Given the description of an element on the screen output the (x, y) to click on. 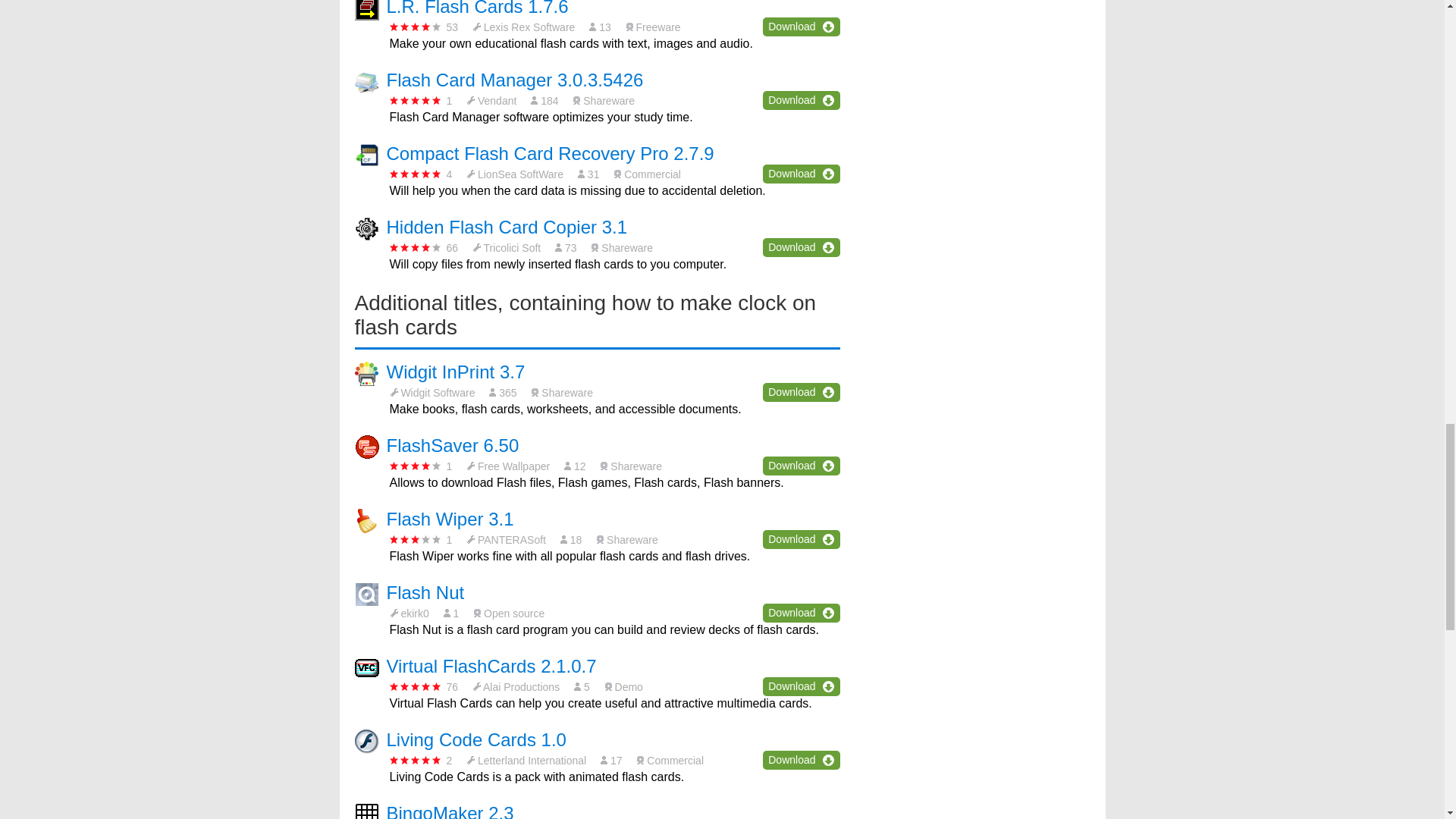
Download (801, 26)
Flash Card Manager 3.0.3.5426 (515, 79)
Download (801, 173)
Hidden Flash Card Copier 3.1 (507, 227)
5 (415, 100)
Compact Flash Card Recovery Pro 2.7.9 (550, 153)
L.R. Flash Cards 1.7.6 (478, 8)
Download (801, 247)
3.8 (415, 26)
L.R. Flash Cards 1.7.6 (478, 8)
